Given the description of an element on the screen output the (x, y) to click on. 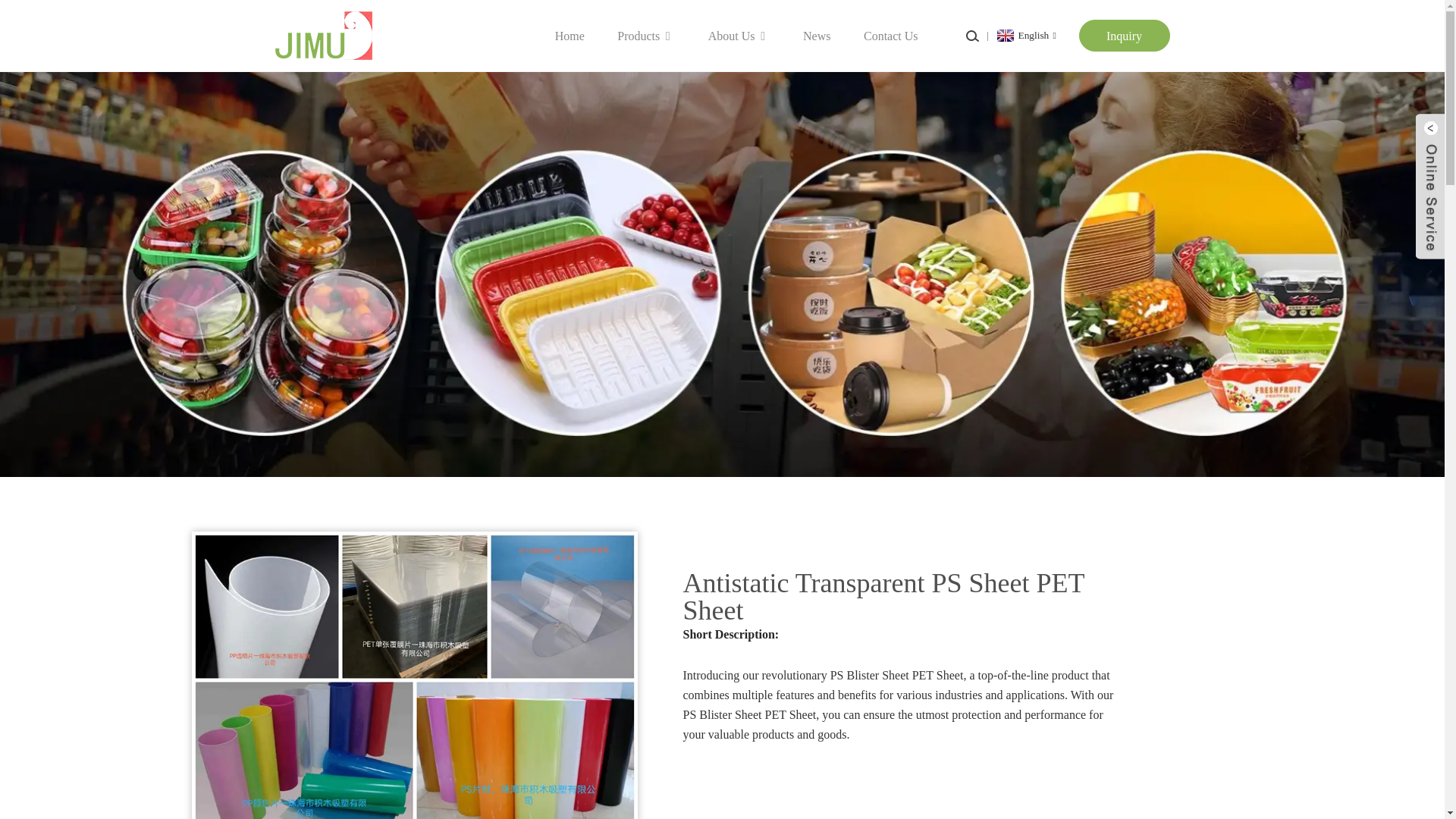
About Us (738, 35)
English (1024, 34)
Products (646, 35)
Contact Us (890, 35)
